Given the description of an element on the screen output the (x, y) to click on. 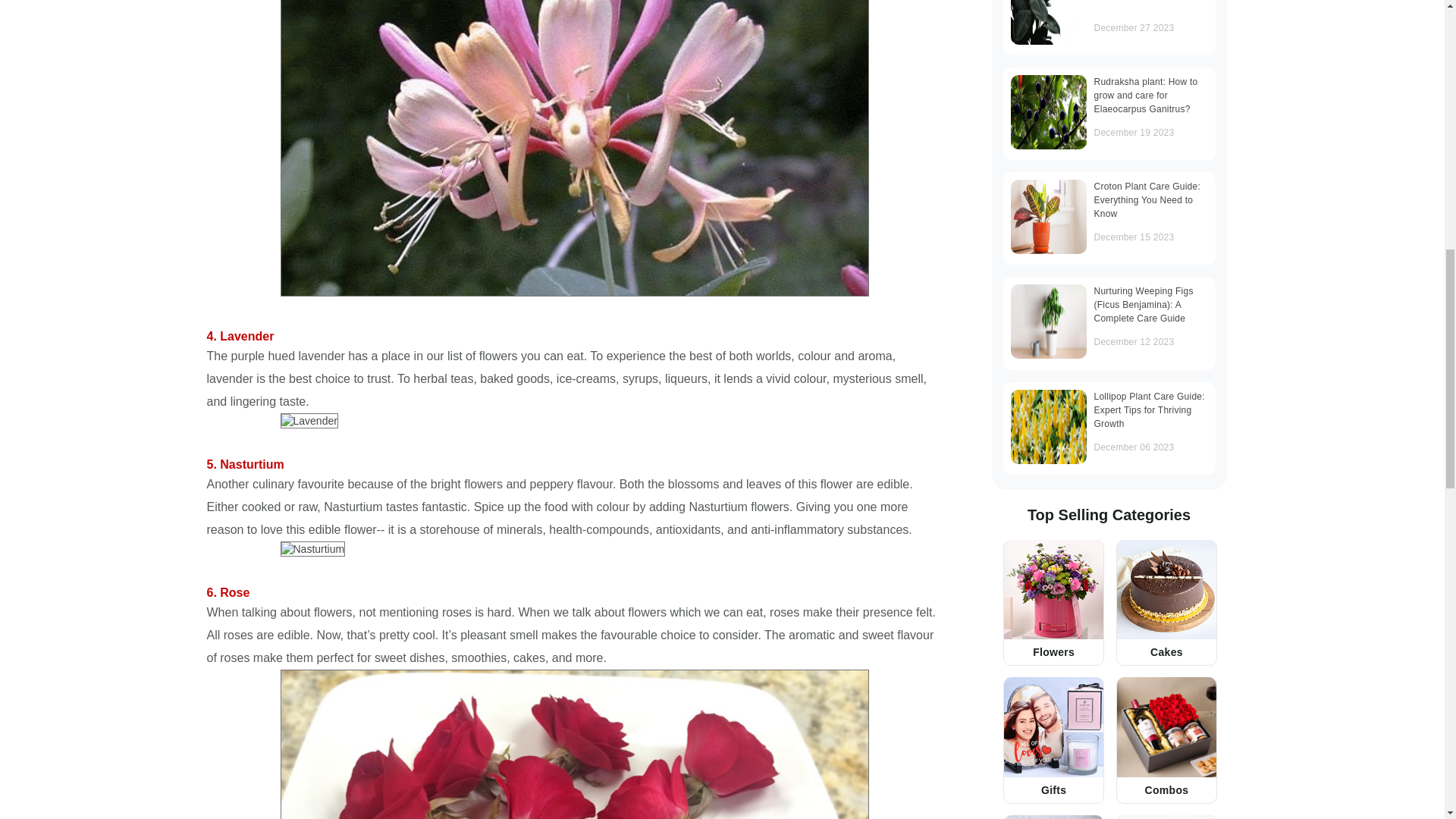
10 Types of Rubber Plants For Your Home (1048, 22)
Lavender (309, 420)
Croton Plant Care Guide: Everything You Need to Know (1048, 216)
Nasturtium (313, 548)
Rose (575, 744)
